Given the description of an element on the screen output the (x, y) to click on. 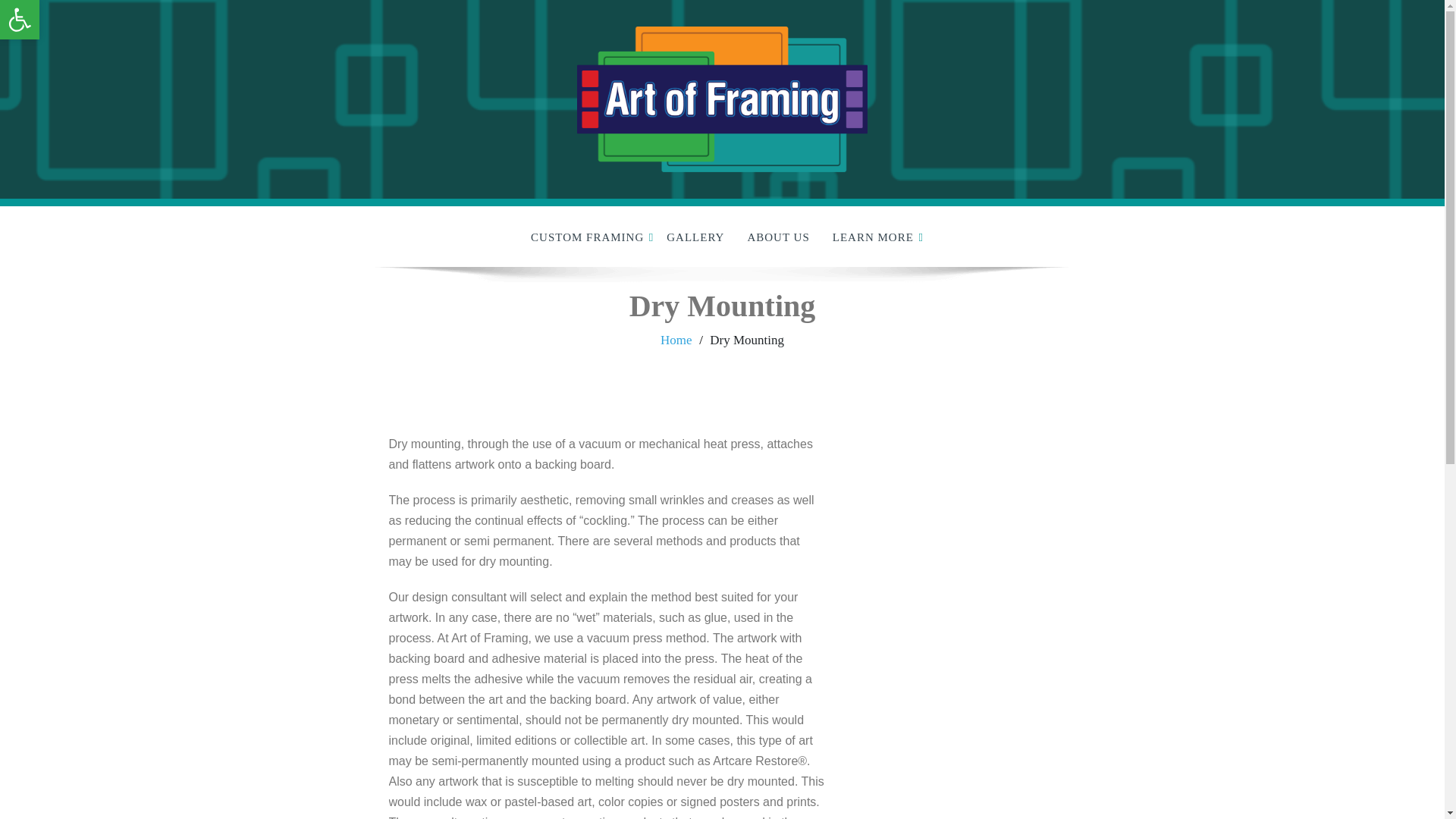
LEARN MORE (872, 237)
GALLERY (695, 237)
CUSTOM FRAMING (587, 237)
ABOUT US (778, 237)
Readable Font (19, 19)
